Given the description of an element on the screen output the (x, y) to click on. 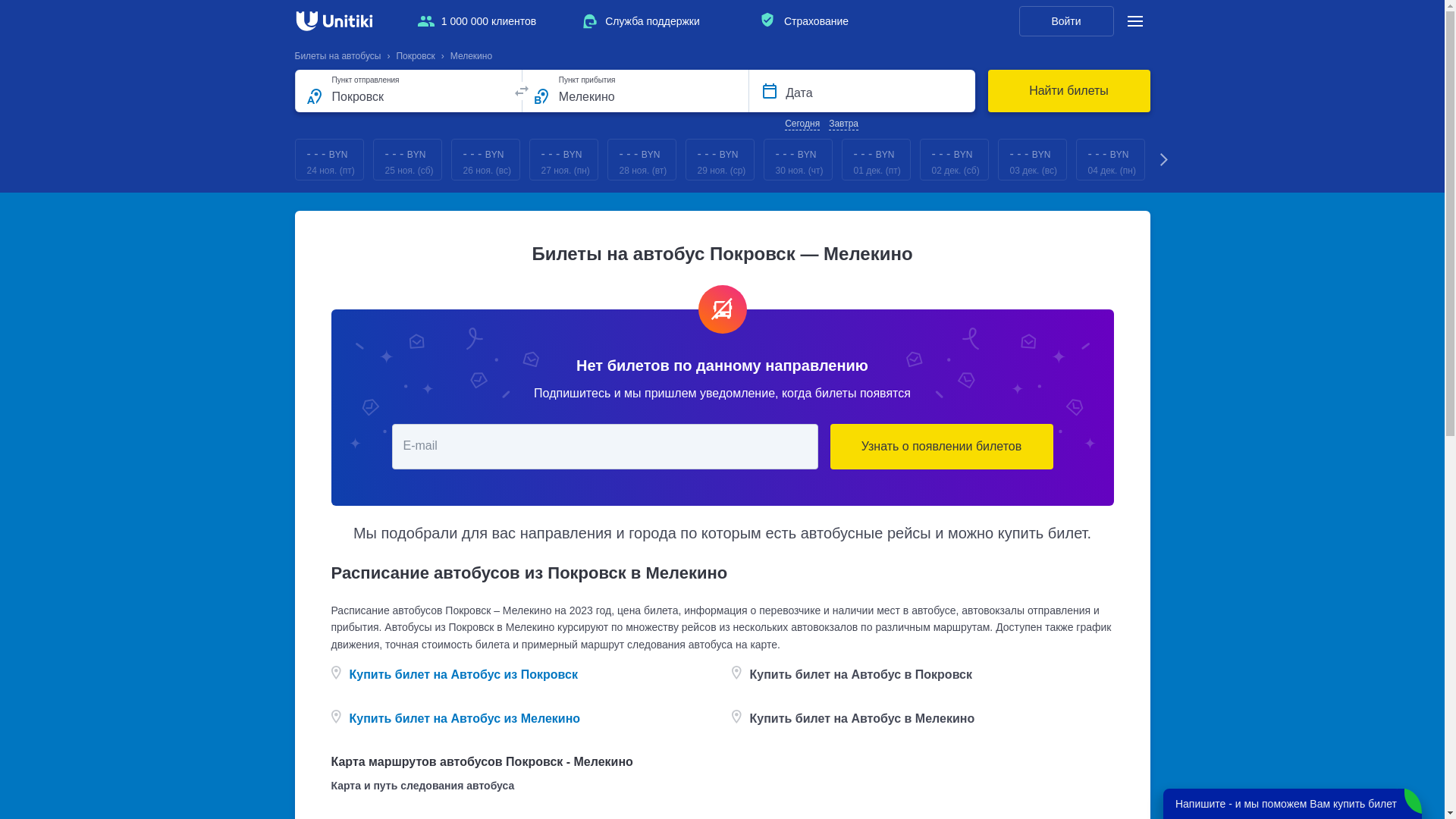
Next Element type: text (1164, 159)
